Given the description of an element on the screen output the (x, y) to click on. 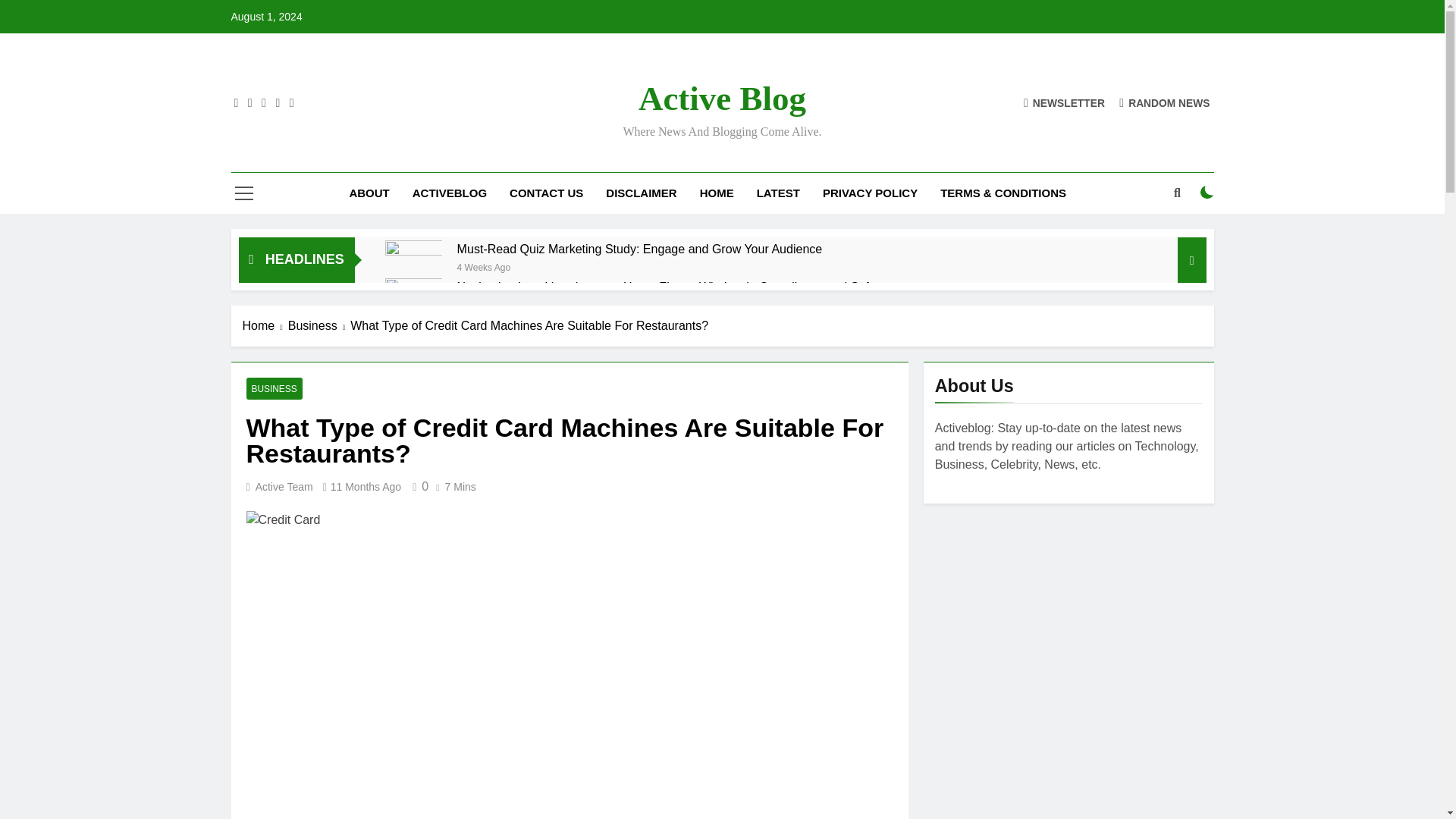
NEWSLETTER (1064, 101)
Active Blog (722, 98)
on (1206, 192)
RANDOM NEWS (1164, 101)
